Given the description of an element on the screen output the (x, y) to click on. 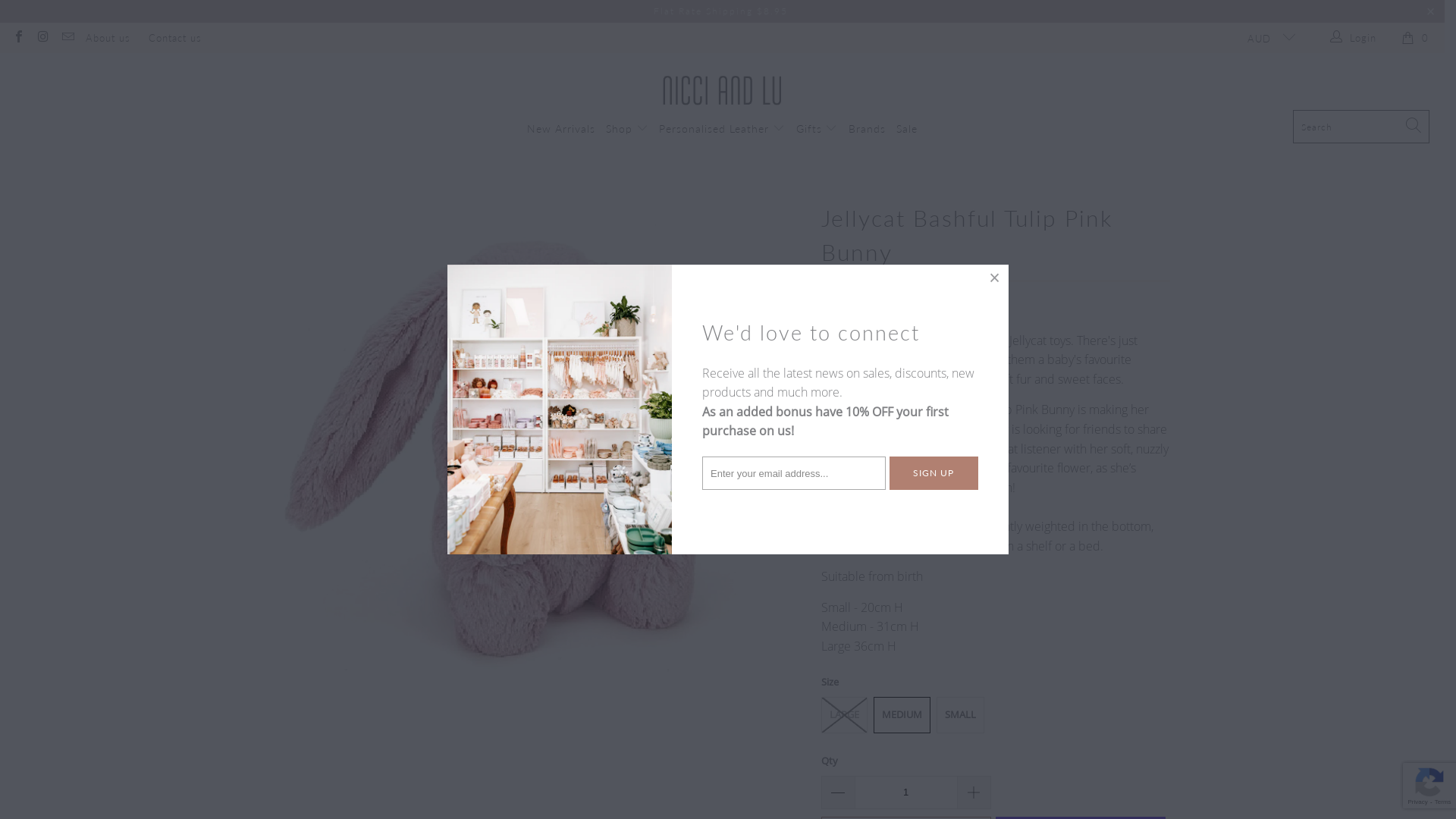
NICCI AND LU on Facebook Element type: hover (18, 37)
Sign Up Element type: text (933, 472)
Sale Element type: text (906, 128)
Email NICCI AND LU Element type: hover (67, 37)
Brands Element type: text (866, 128)
Personalised Leather Element type: text (721, 128)
NICCI AND LU on Instagram Element type: hover (42, 37)
Gifts Element type: text (816, 128)
Close Element type: hover (994, 277)
Shop Element type: text (626, 128)
About us Element type: text (107, 37)
Login Element type: text (1354, 37)
AUD Element type: text (1264, 37)
NICCI AND LU Element type: hover (721, 84)
New Arrivals Element type: text (561, 128)
0 Element type: text (1417, 37)
Contact us Element type: text (174, 37)
